Given the description of an element on the screen output the (x, y) to click on. 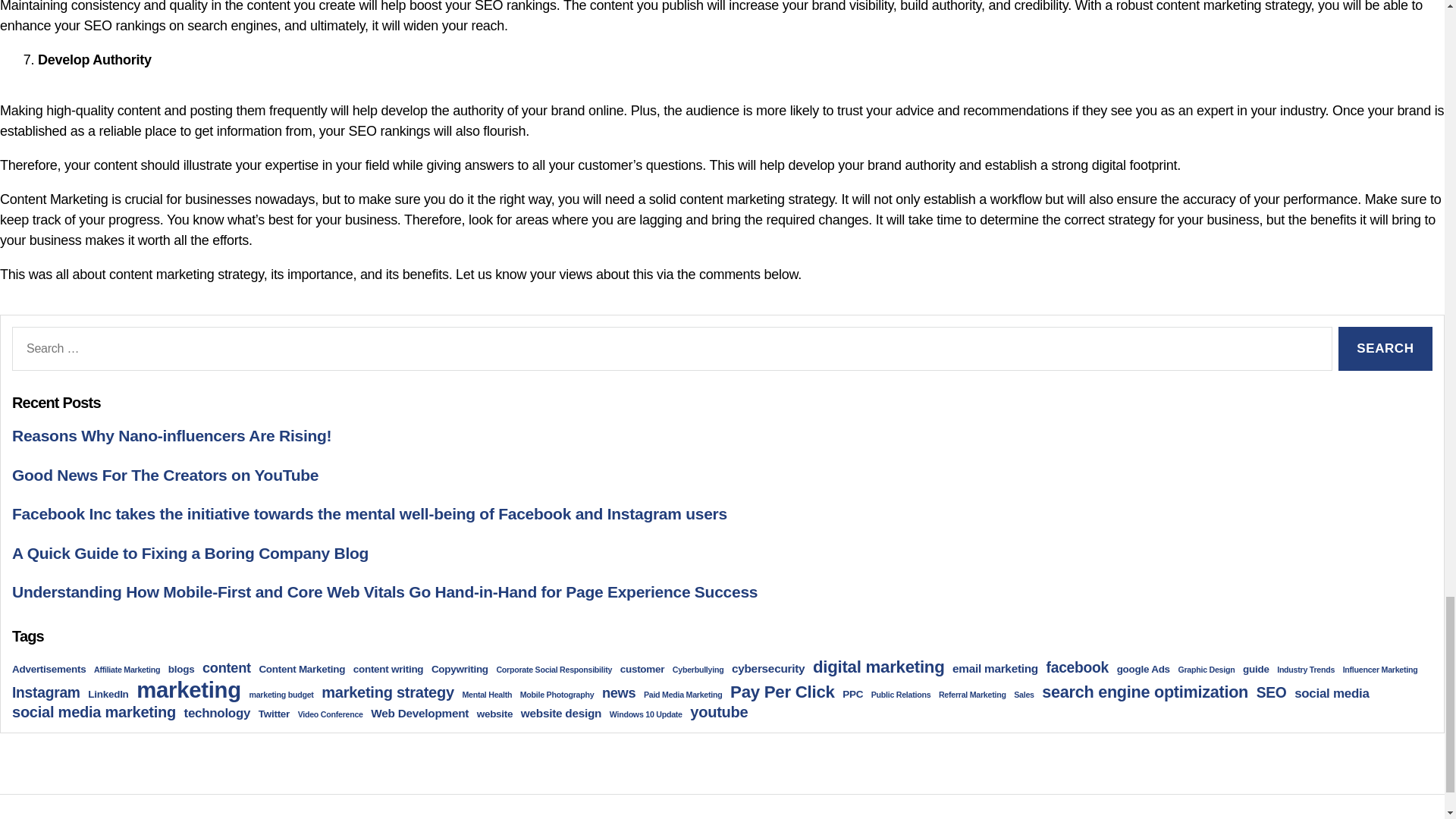
Search (1385, 348)
Advertisements (48, 668)
Reasons Why Nano-influencers Are Rising! (171, 435)
Affiliate Marketing (127, 669)
Search (1385, 348)
Content Marketing (302, 668)
Copywriting (458, 668)
Search (1385, 348)
Corporate Social Responsibility (553, 669)
blogs (181, 668)
Good News For The Creators on YouTube (164, 475)
A Quick Guide to Fixing a Boring Company Blog (189, 552)
content writing (388, 668)
